Given the description of an element on the screen output the (x, y) to click on. 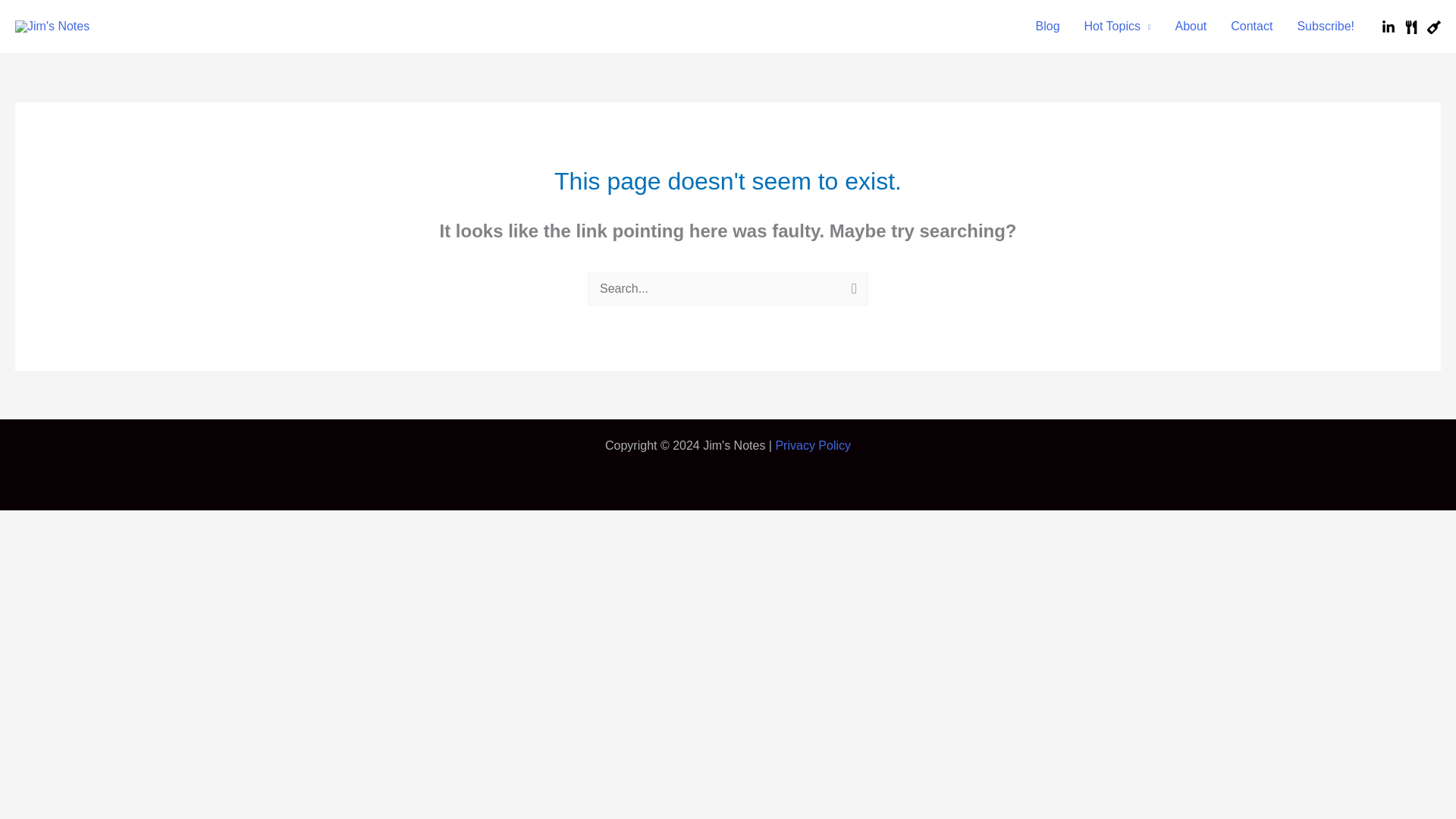
About (1189, 26)
Privacy Policy (812, 445)
Contact (1251, 26)
Hot Topics (1117, 26)
Blog (1047, 26)
Subscribe! (1325, 26)
